Given the description of an element on the screen output the (x, y) to click on. 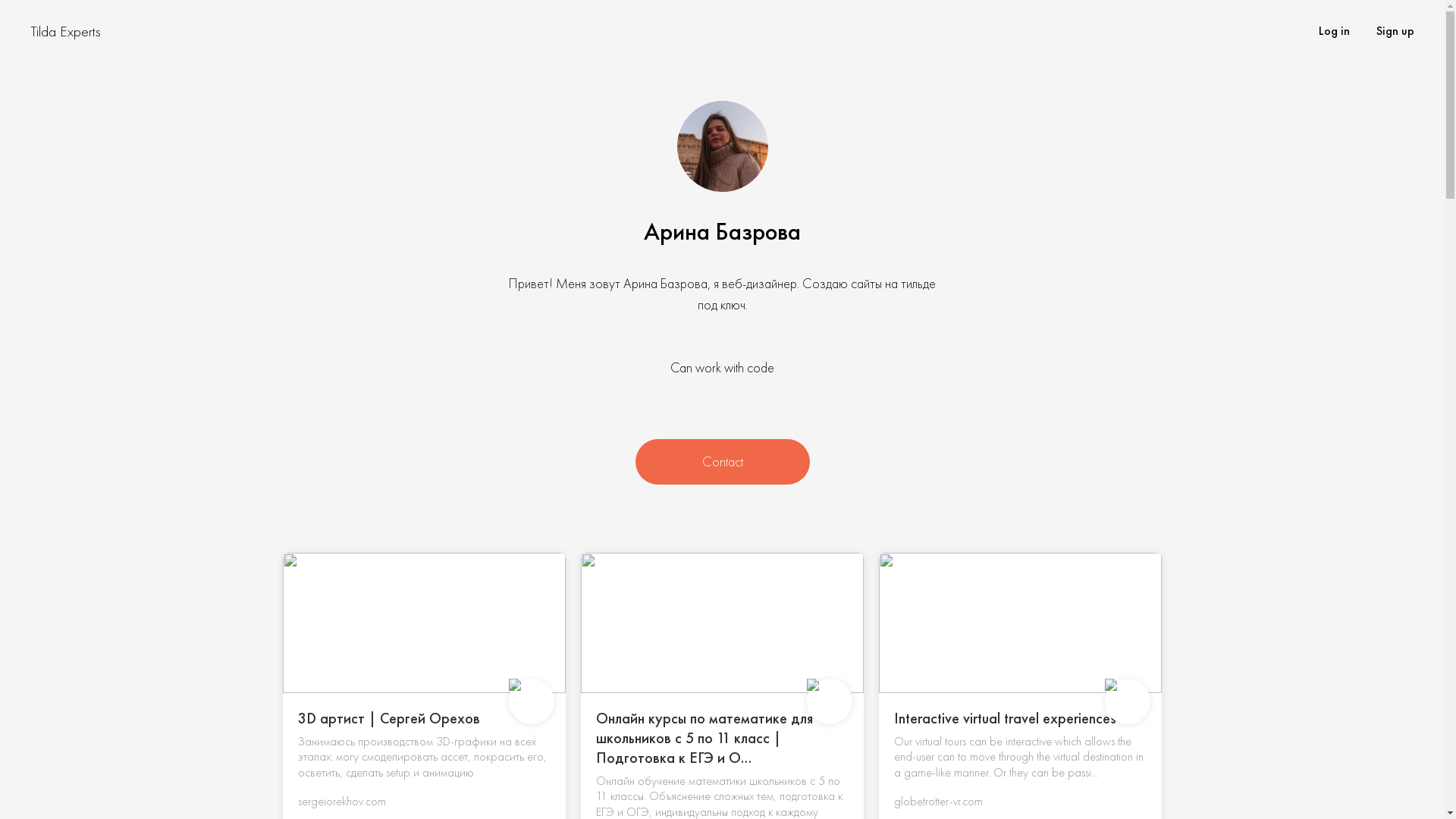
Sign up Element type: text (1395, 30)
Log in Element type: text (1333, 30)
Contact Element type: text (722, 461)
Tilda Experts Element type: text (65, 32)
